Given the description of an element on the screen output the (x, y) to click on. 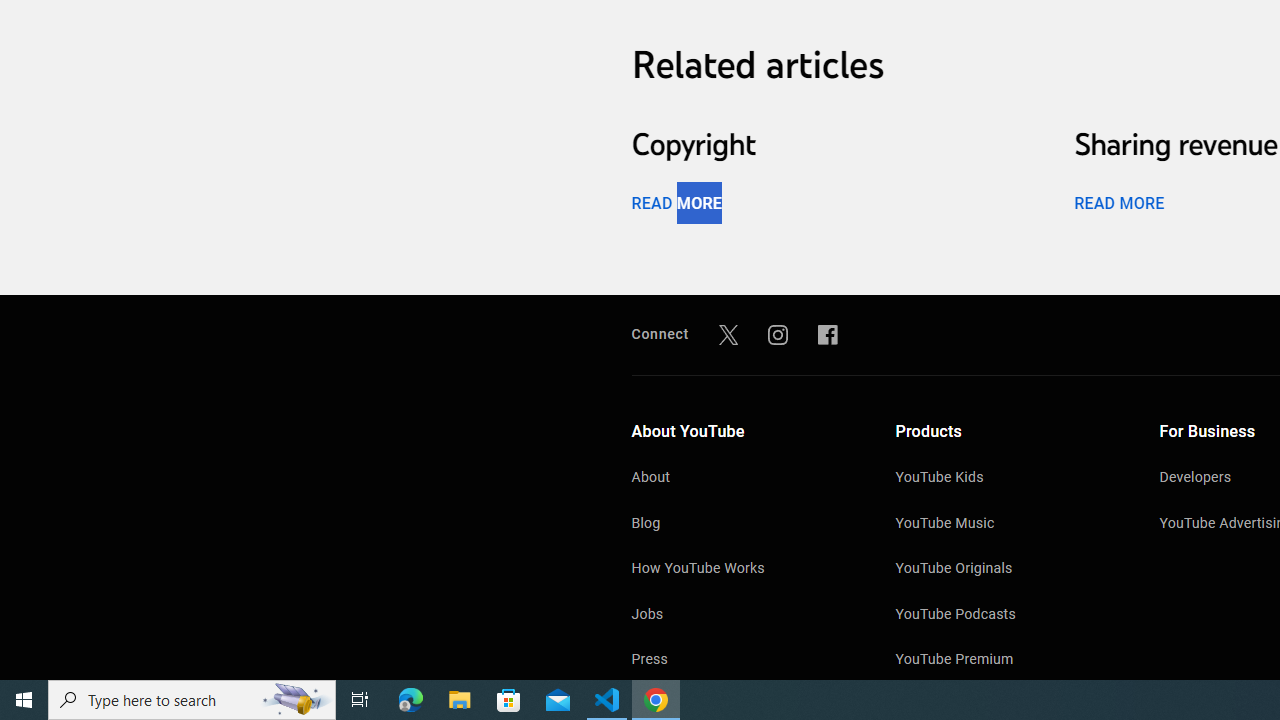
About (743, 479)
YouTube Originals (1007, 570)
Press (743, 660)
How YouTube Works (743, 570)
YouTube Kids (1007, 479)
YouTube Music (1007, 524)
YouTube Premium (1007, 660)
Instagram (778, 334)
Jobs (743, 616)
Blog (743, 524)
YouTube Podcasts (1007, 616)
READ MORE (1118, 202)
Twitter (728, 334)
